Given the description of an element on the screen output the (x, y) to click on. 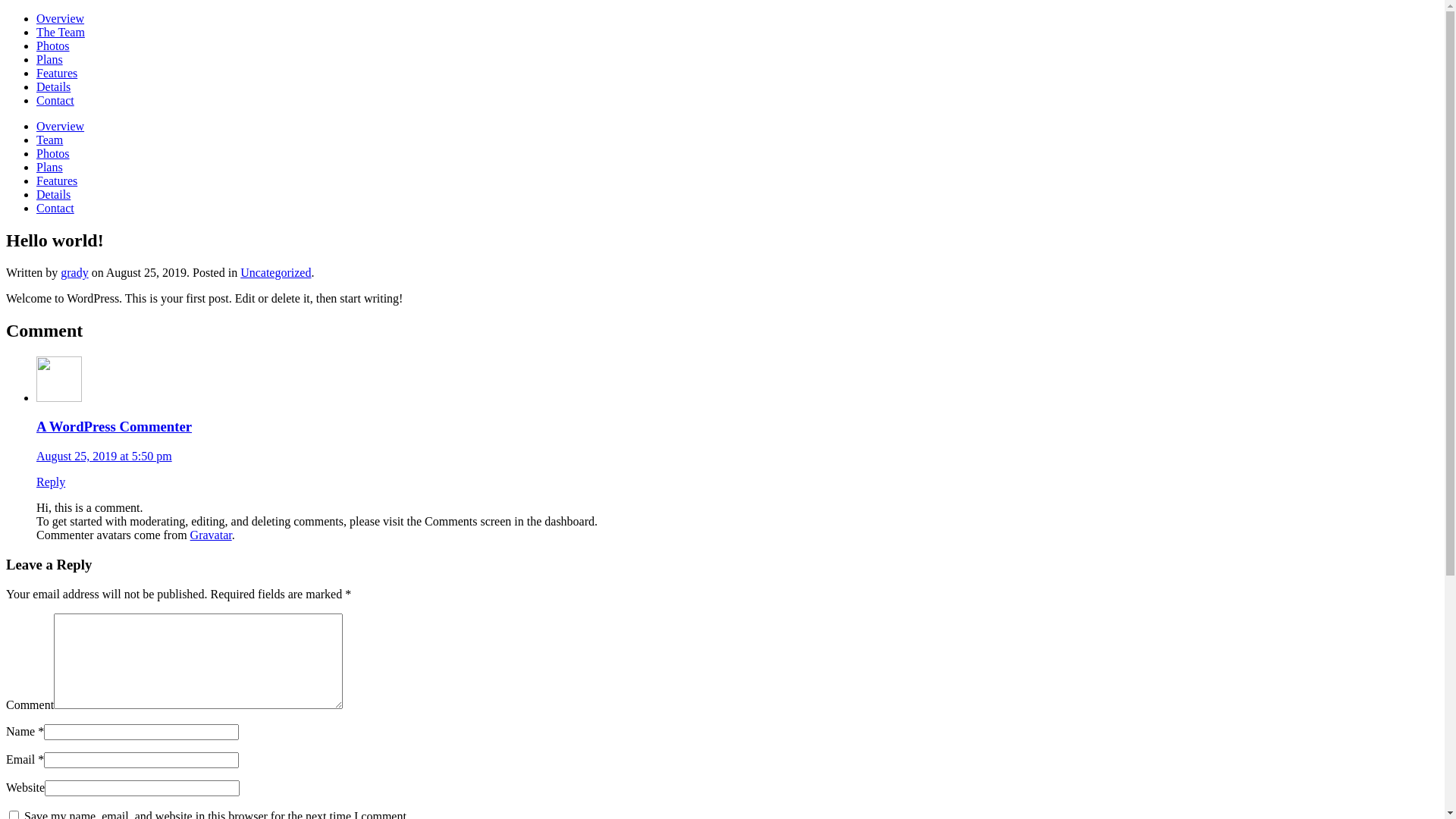
Features Element type: text (56, 180)
Team Element type: text (49, 139)
A WordPress Commenter Element type: text (113, 426)
Overview Element type: text (60, 125)
Plans Element type: text (49, 166)
Overview Element type: text (60, 18)
Plans Element type: text (49, 59)
Photos Element type: text (52, 153)
Details Element type: text (53, 194)
Reply Element type: text (50, 481)
August 25, 2019 at 5:50 pm Element type: text (104, 455)
Contact Element type: text (55, 100)
Details Element type: text (53, 86)
Uncategorized Element type: text (275, 272)
grady Element type: text (73, 272)
Photos Element type: text (52, 45)
Gravatar Element type: text (211, 534)
The Team Element type: text (60, 31)
Features Element type: text (56, 72)
Contact Element type: text (55, 207)
